Given the description of an element on the screen output the (x, y) to click on. 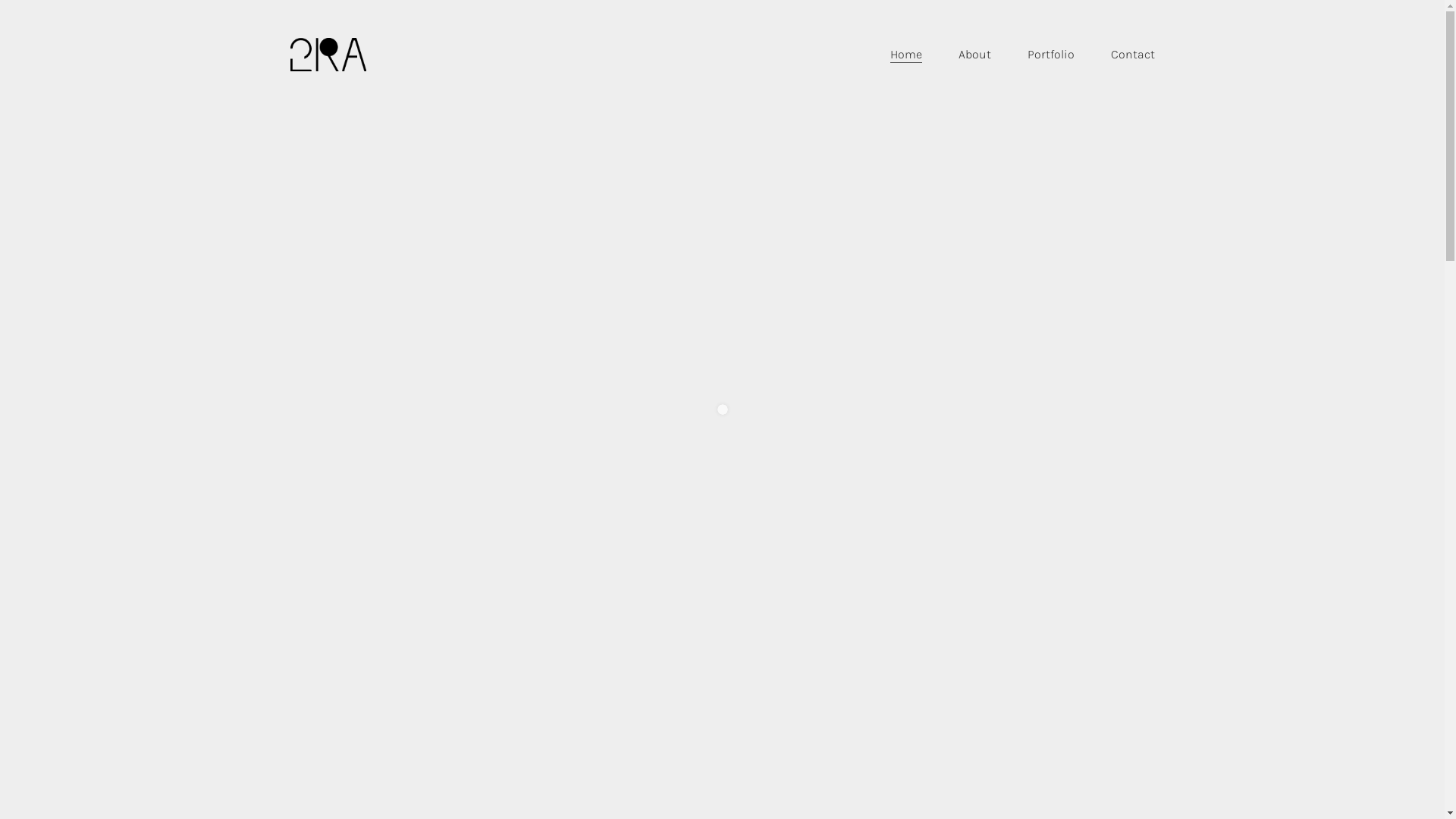
Contact Element type: text (1132, 54)
Home Element type: text (906, 54)
Portfolio Element type: text (1049, 54)
About Element type: text (974, 54)
